Given the description of an element on the screen output the (x, y) to click on. 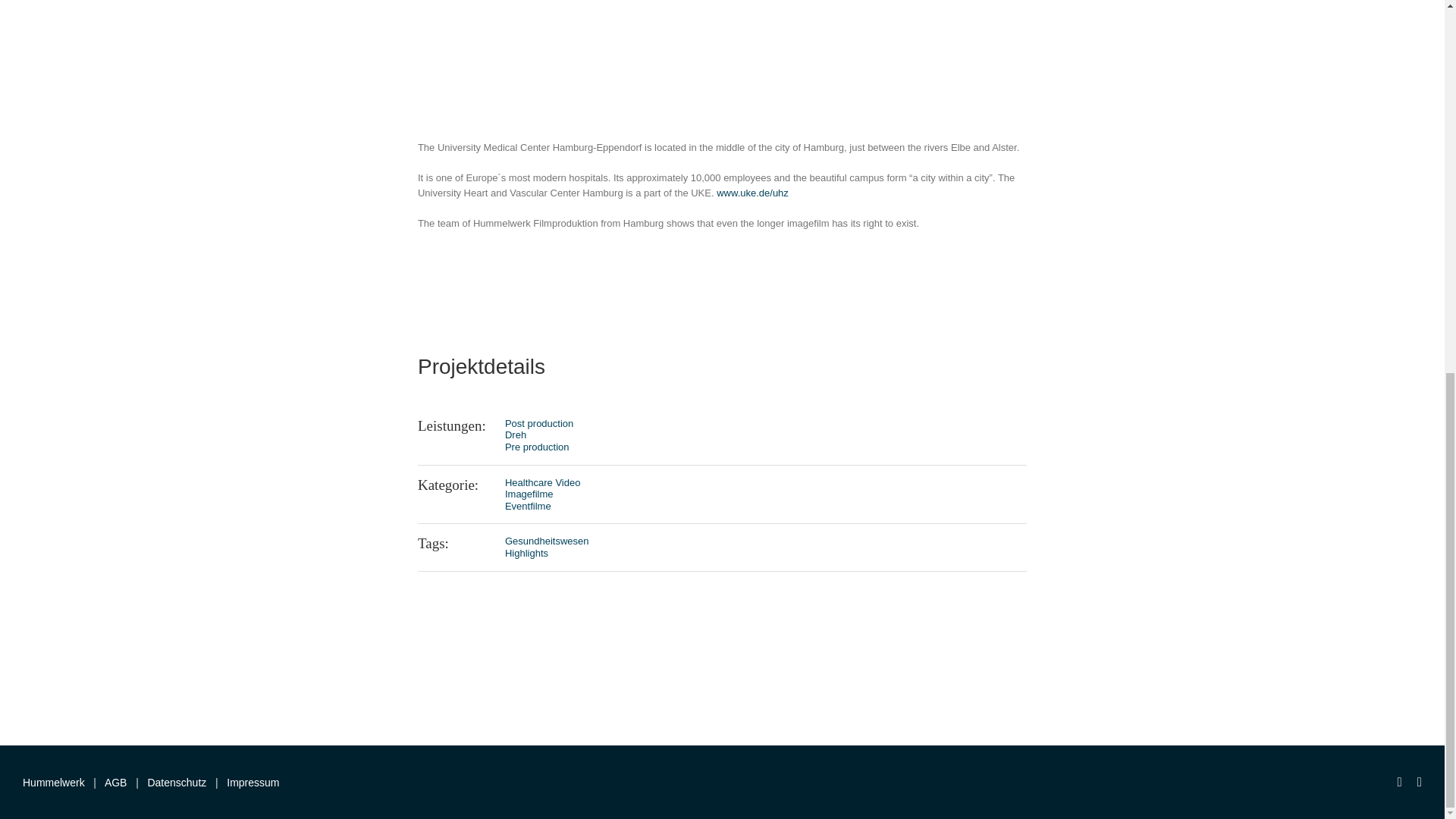
Imagefilme (529, 493)
Impressum (253, 782)
Highlights (526, 552)
Healthcare Video (542, 482)
Pre production (537, 446)
Vimeo video player 1 (721, 27)
Eventfilme (528, 505)
Dreh (515, 434)
AGB (116, 782)
Datenschutz (176, 782)
Gesundheitswesen (547, 541)
Post production (539, 423)
Hummelwerk (53, 782)
